Given the description of an element on the screen output the (x, y) to click on. 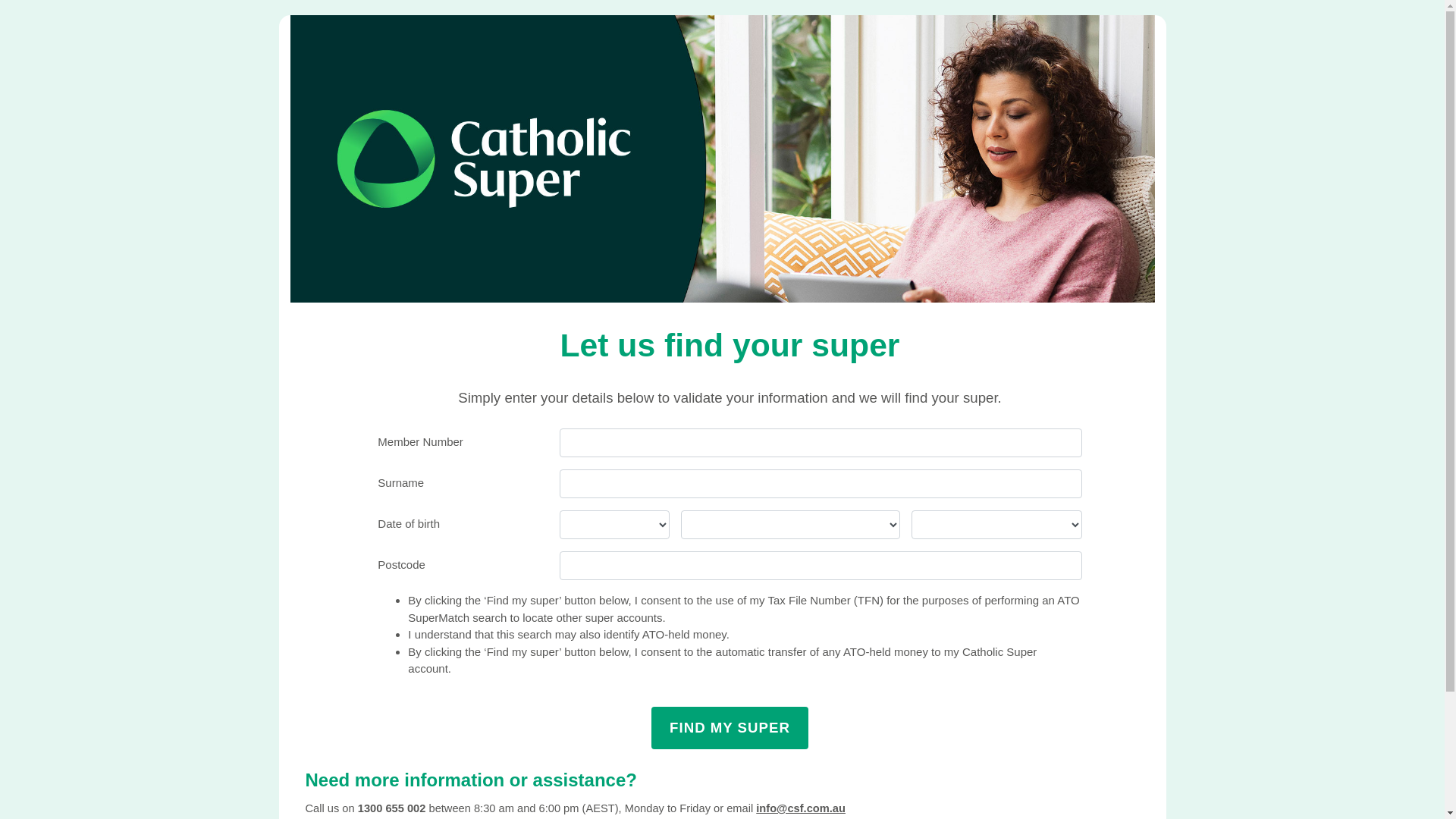
info@csf.com.au Element type: text (800, 808)
FIND MY SUPER Element type: text (729, 727)
